Given the description of an element on the screen output the (x, y) to click on. 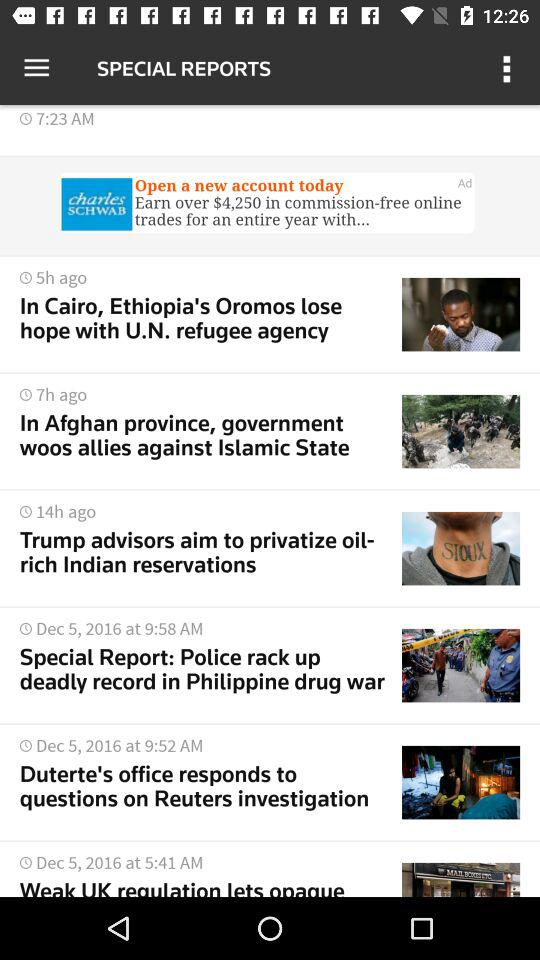
go to advertisement (270, 205)
